Given the description of an element on the screen output the (x, y) to click on. 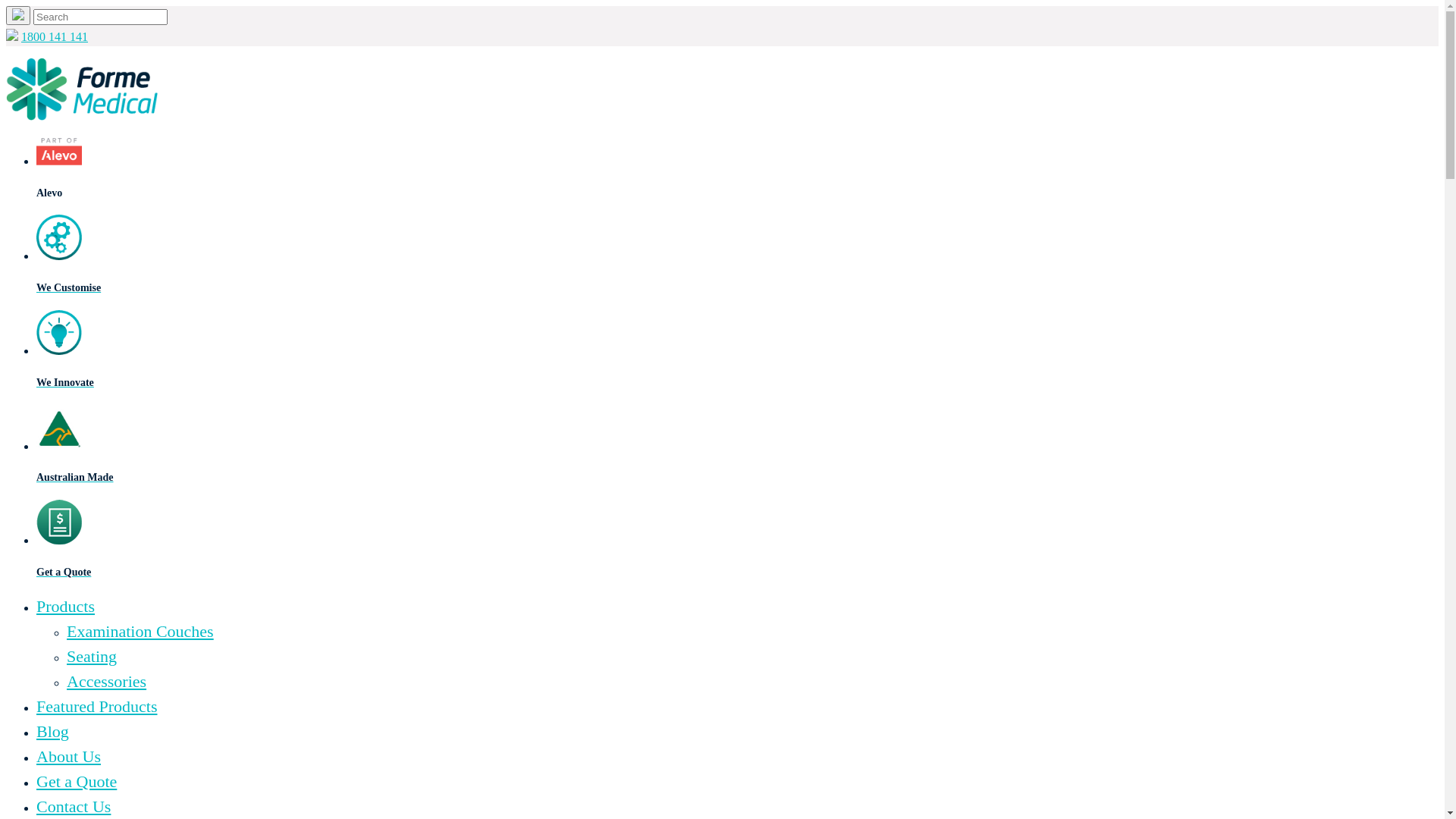
Products Element type: text (65, 605)
Australian Made Element type: text (737, 462)
About Us Element type: text (68, 755)
Accessories Element type: text (106, 680)
We Innovate Element type: text (737, 367)
Get a Quote Element type: text (737, 556)
We Customise Element type: text (737, 272)
Blog Element type: text (52, 730)
Contact Us Element type: text (73, 806)
1800 141 141 Element type: text (54, 36)
Featured Products Element type: text (96, 705)
Seating Element type: text (91, 655)
Examination Couches Element type: text (139, 630)
Get a Quote Element type: text (76, 780)
